Given the description of an element on the screen output the (x, y) to click on. 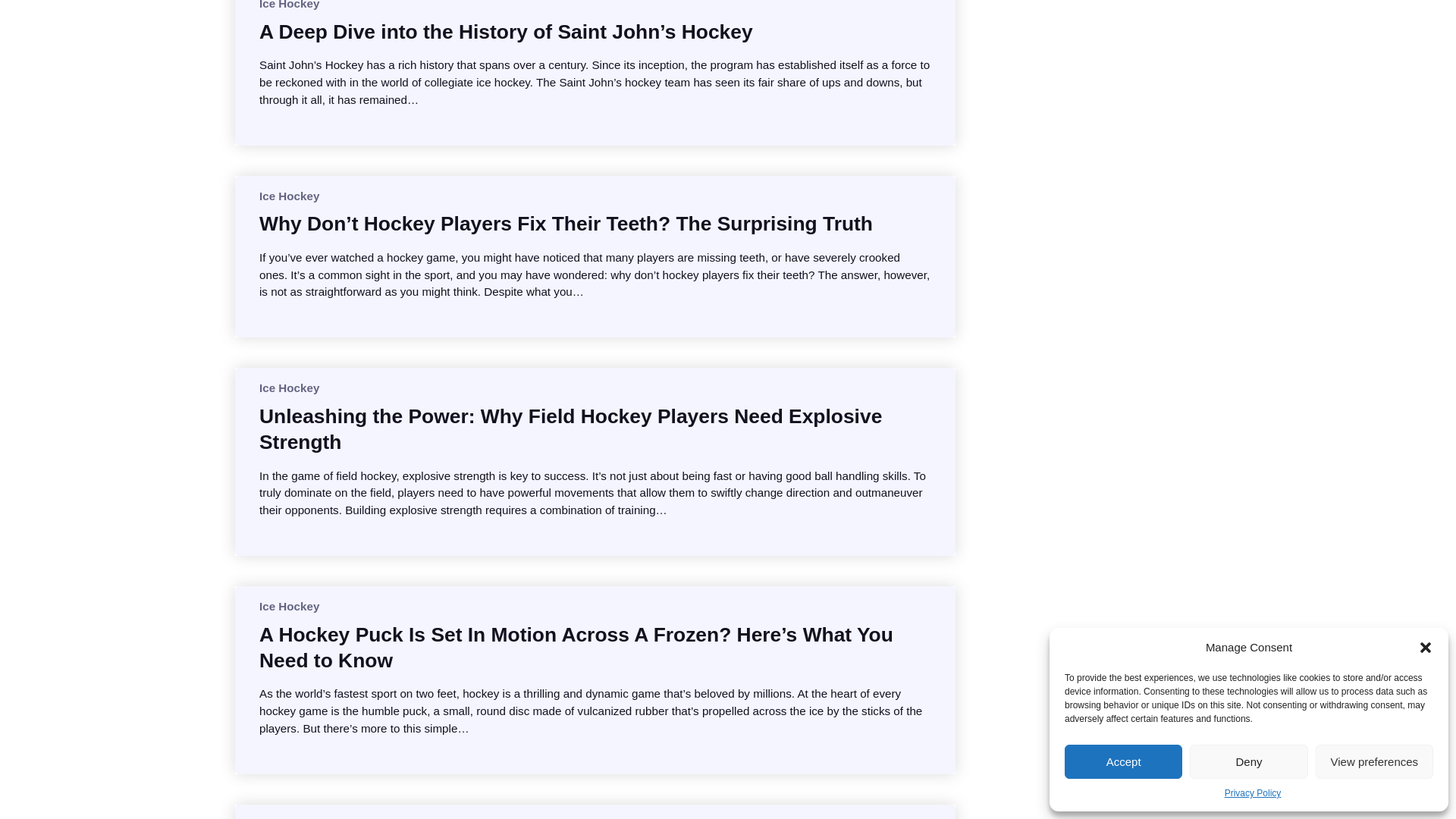
Ice Hockey (288, 4)
